Given the description of an element on the screen output the (x, y) to click on. 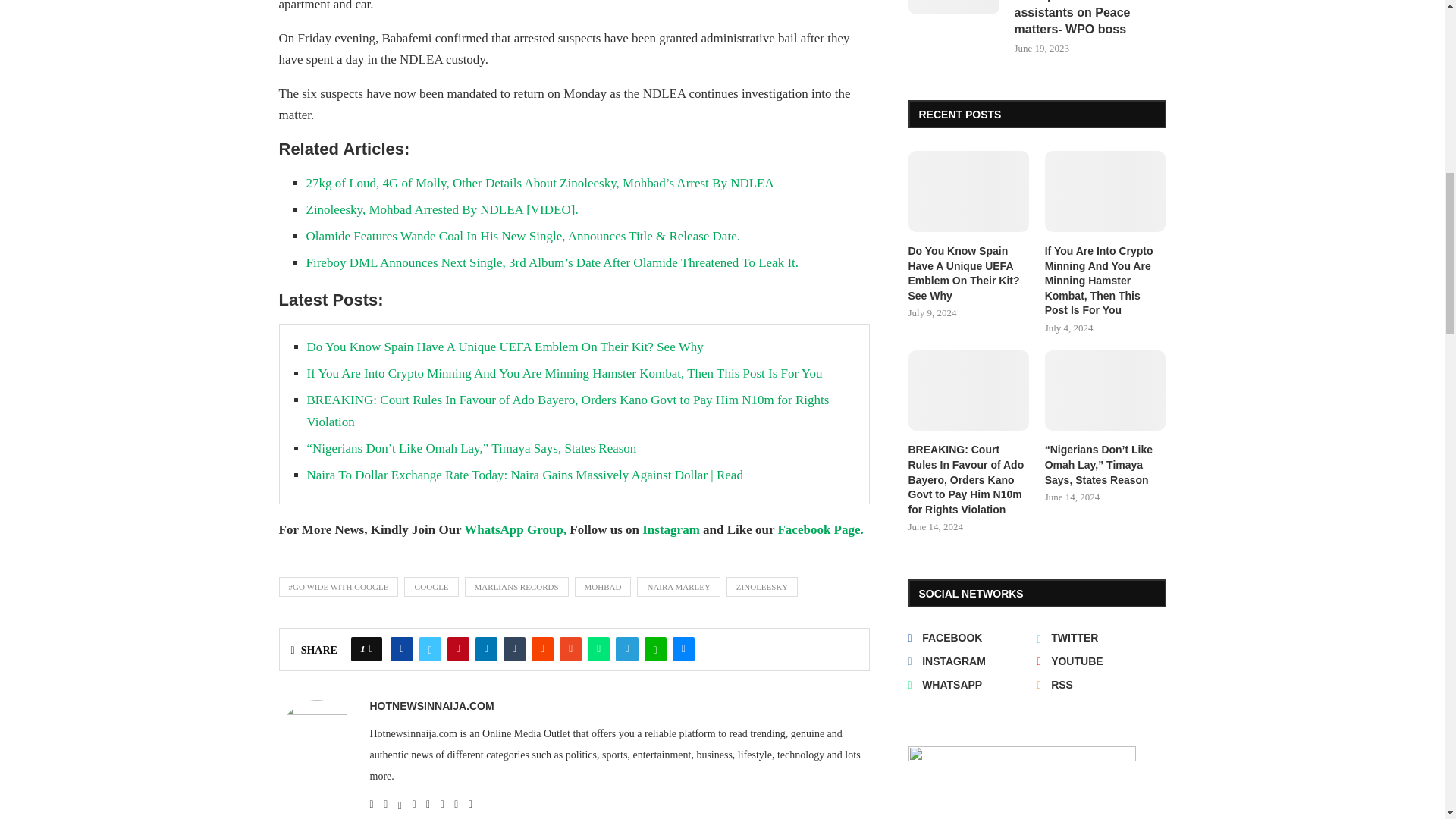
Facebook Page. (820, 529)
Instagram (671, 529)
GOOGLE (431, 587)
Author Hotnewsinnaija.com (432, 705)
WhatsApp Group,  (516, 529)
